Given the description of an element on the screen output the (x, y) to click on. 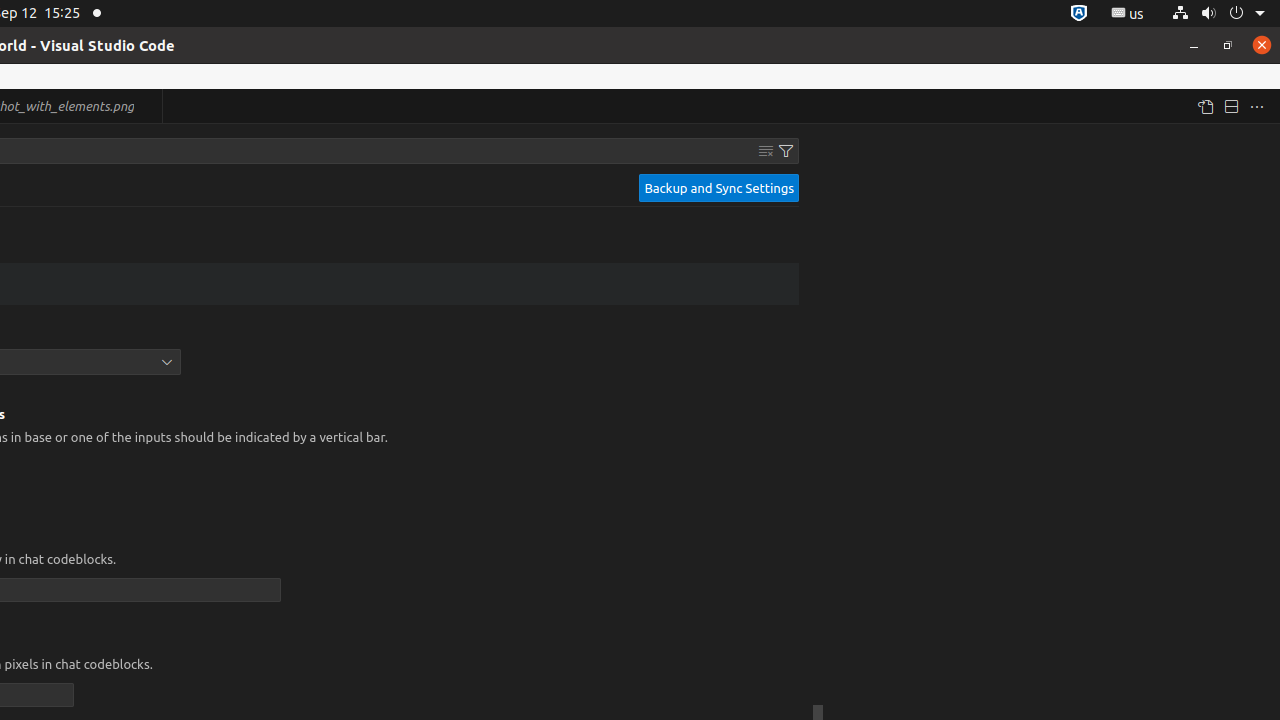
More Actions... Element type: push-button (1257, 106)
Split Editor Right (Ctrl+\) [Alt] Split Editor Down Element type: push-button (1231, 106)
Clear Settings Search Input Element type: push-button (766, 151)
